Given the description of an element on the screen output the (x, y) to click on. 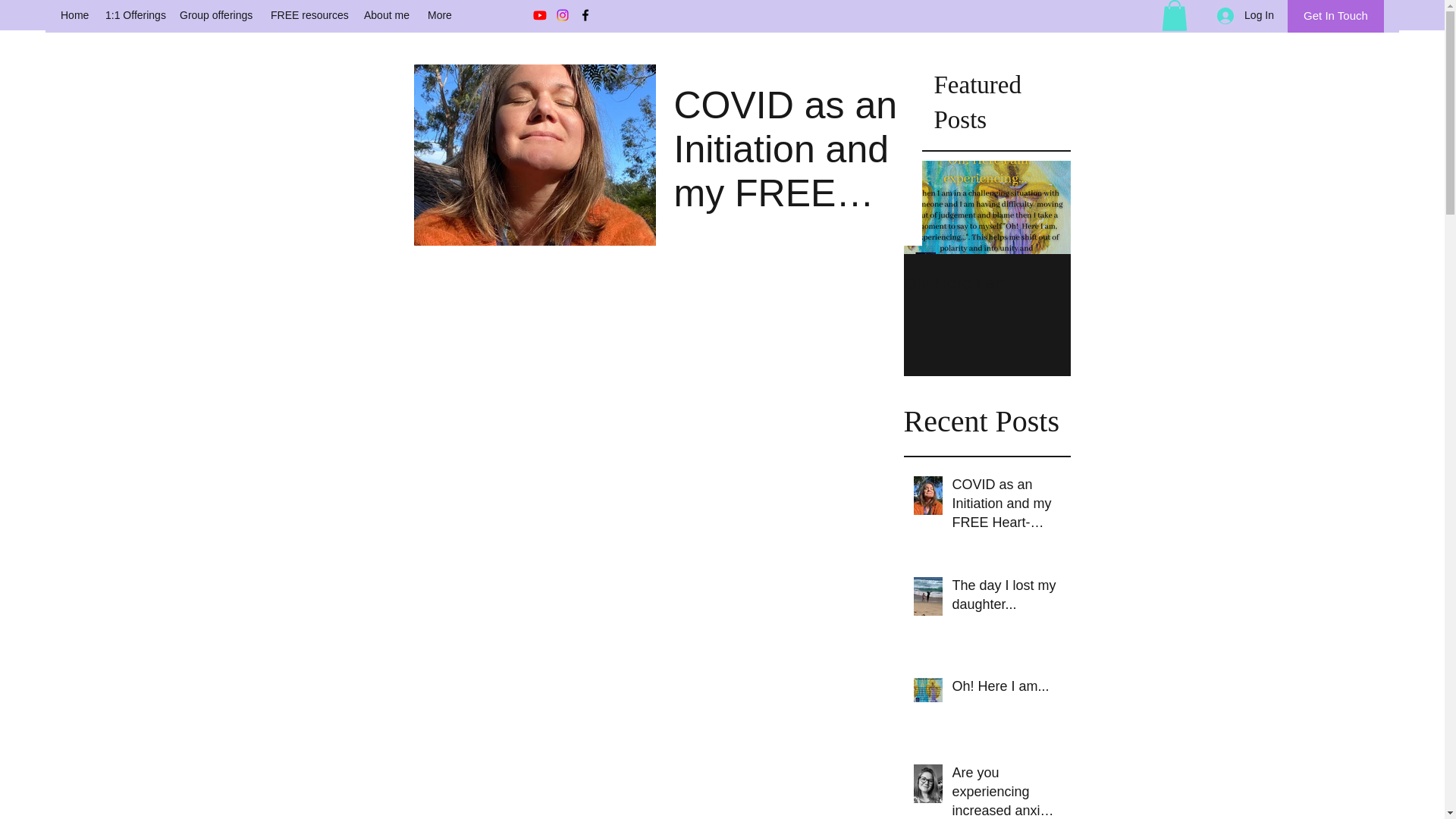
Get In Touch (1335, 16)
Are you experiencing increased anxiety or tension right now? (1006, 791)
Oh! Here I am... (1006, 689)
Home (74, 15)
Log In (1245, 15)
About me (388, 15)
Group offerings (217, 15)
1:1 Offerings (134, 15)
COVID as an Initiation and my FREE Heart-Centred Guide (1006, 506)
Oh! Here I am... (987, 283)
